Given the description of an element on the screen output the (x, y) to click on. 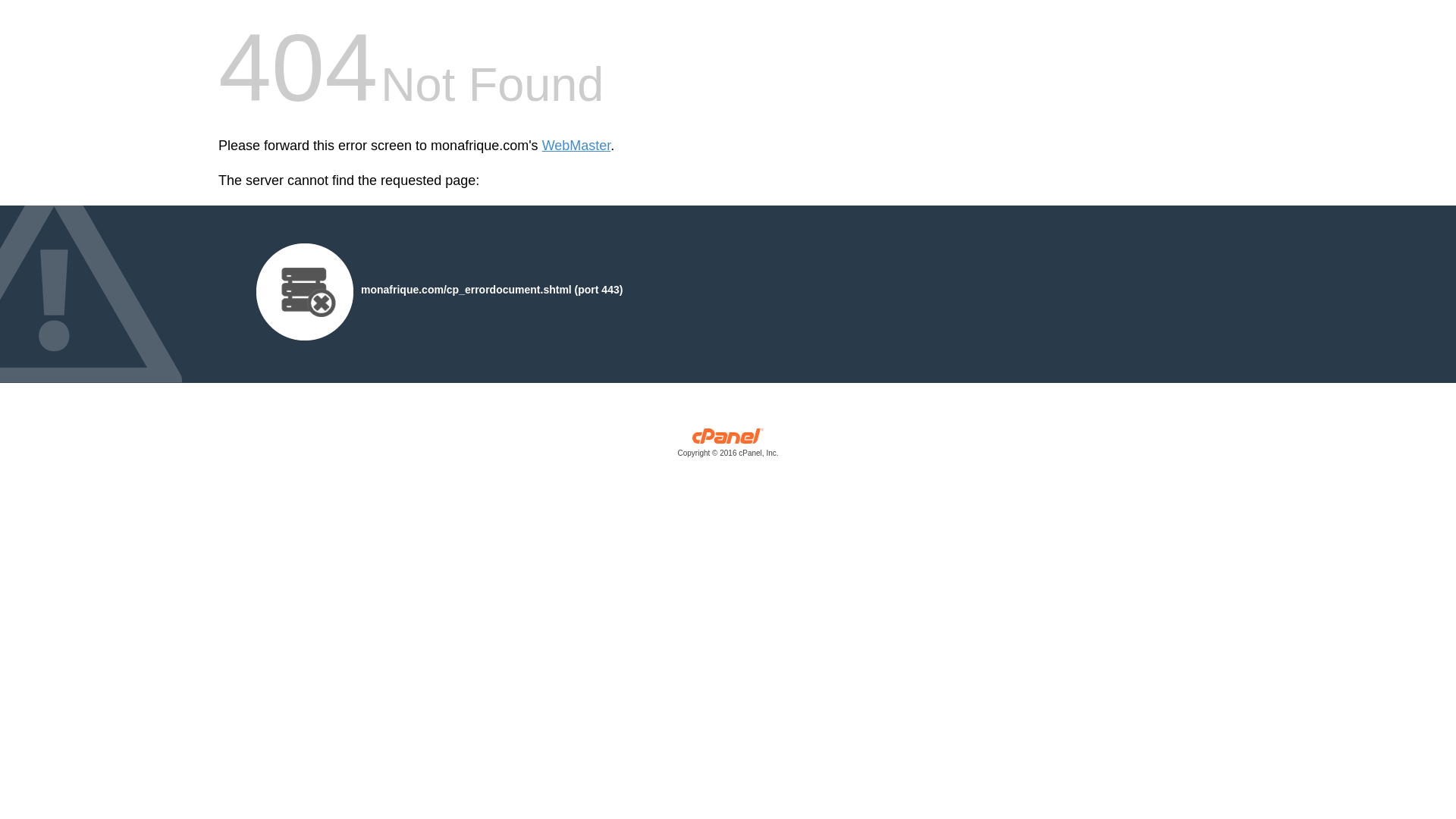
WebMaster (576, 145)
cPanel, Inc. (727, 446)
